Given the description of an element on the screen output the (x, y) to click on. 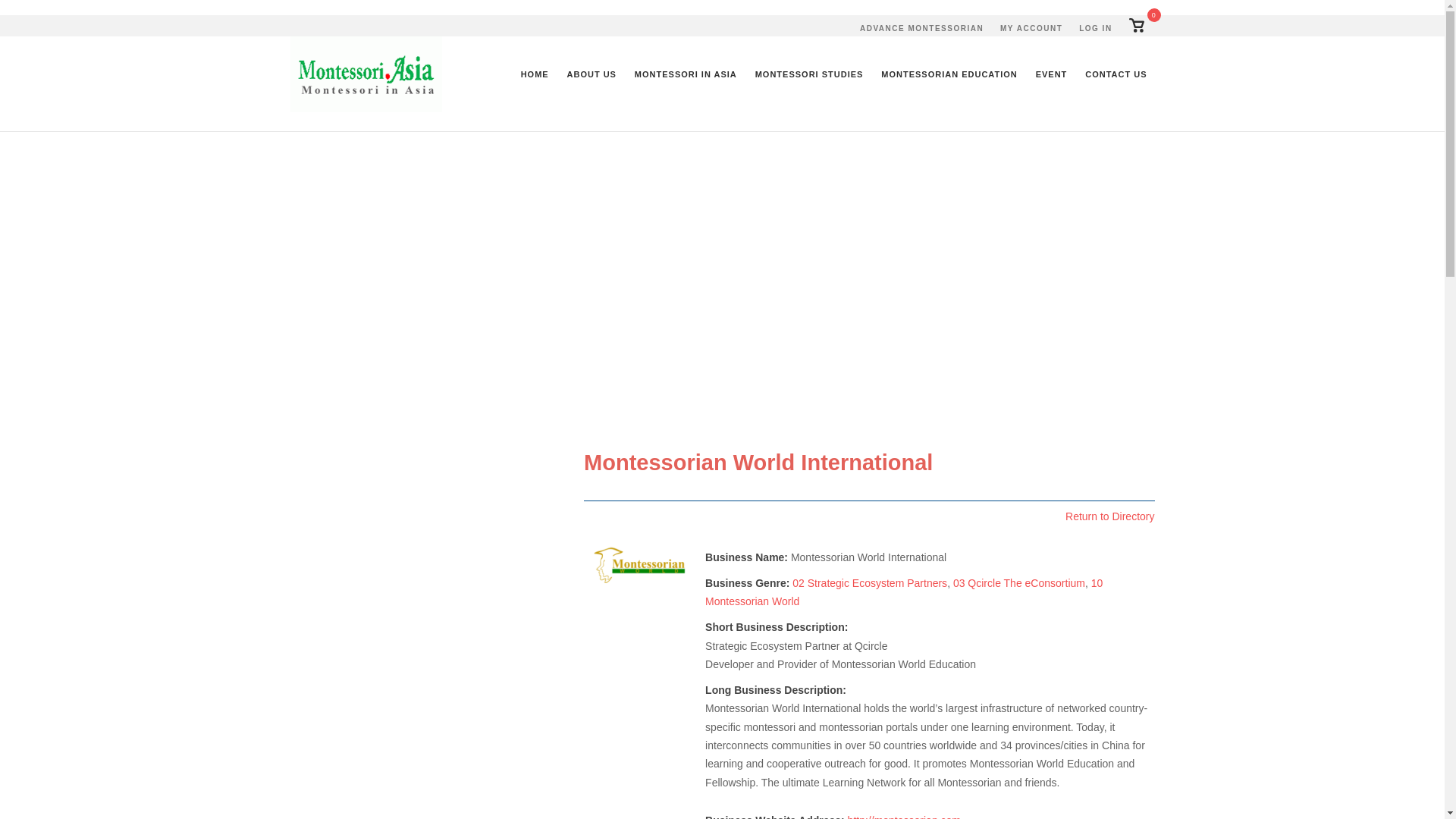
10 Montessorian World (903, 592)
Montessorian World International (640, 564)
03 Qcircle The eConsortium (1136, 25)
MONTESSORIAN EDUCATION (1018, 582)
CONTACT US (949, 74)
02 Strategic Ecosystem Partners (1115, 74)
HOME (869, 582)
MONTESSORI STUDIES (534, 74)
Return to Directory (809, 74)
LOG IN (1109, 515)
EVENT (1095, 28)
View shopping cart (1051, 74)
MY ACCOUNT (1136, 25)
MONTESSORI IN ASIA (1031, 28)
